Given the description of an element on the screen output the (x, y) to click on. 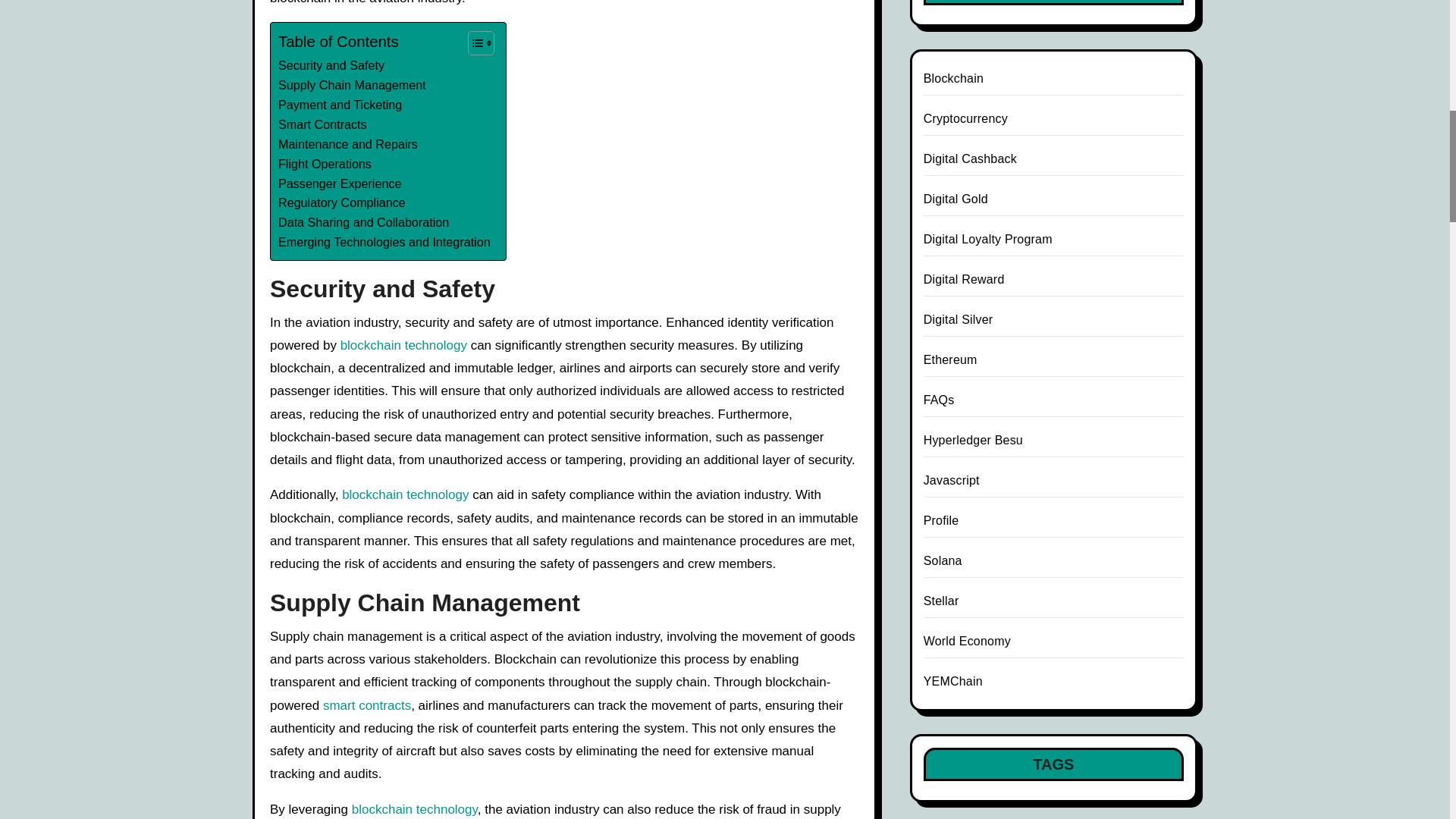
Supply Chain Management (352, 85)
Emerging Technologies and Integration (384, 242)
Passenger Experience (339, 184)
Smart Contracts (322, 125)
Payment and Ticketing (339, 105)
Supply Chain Management (352, 85)
Flight Operations (324, 164)
Passenger Experience (339, 184)
smart contracts (366, 705)
Regulatory Compliance (342, 202)
blockchain technology (403, 345)
Security and Safety (331, 66)
blockchain technology (405, 494)
blockchain technology (403, 345)
blockchain technology (405, 494)
